Given the description of an element on the screen output the (x, y) to click on. 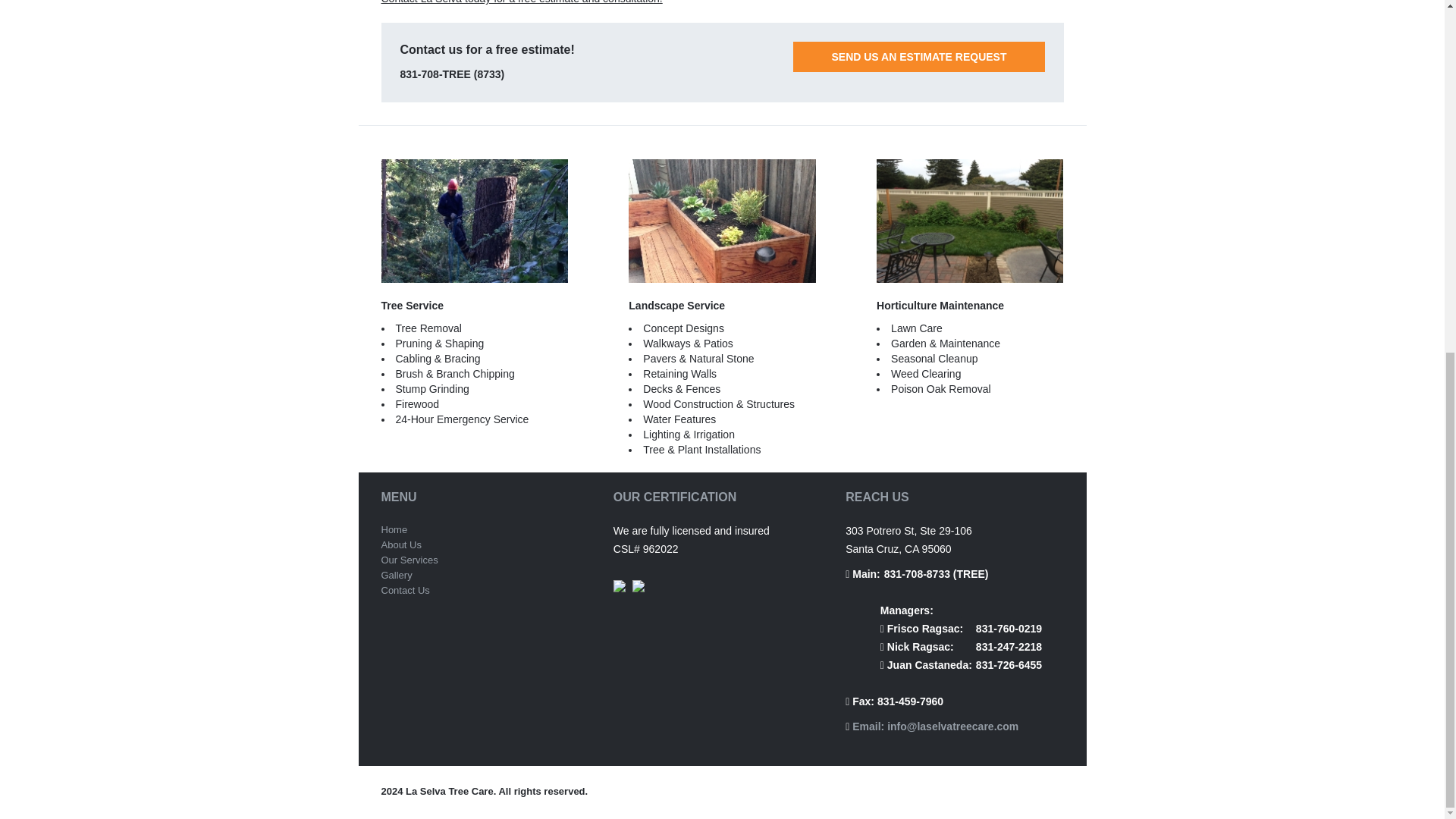
About Us (400, 544)
Contact La Selva today for a free estimate and consultation! (521, 2)
Contact Us (404, 589)
SEND US AN ESTIMATE REQUEST (918, 56)
Home (393, 529)
Our Services (409, 559)
Gallery (396, 574)
